Given the description of an element on the screen output the (x, y) to click on. 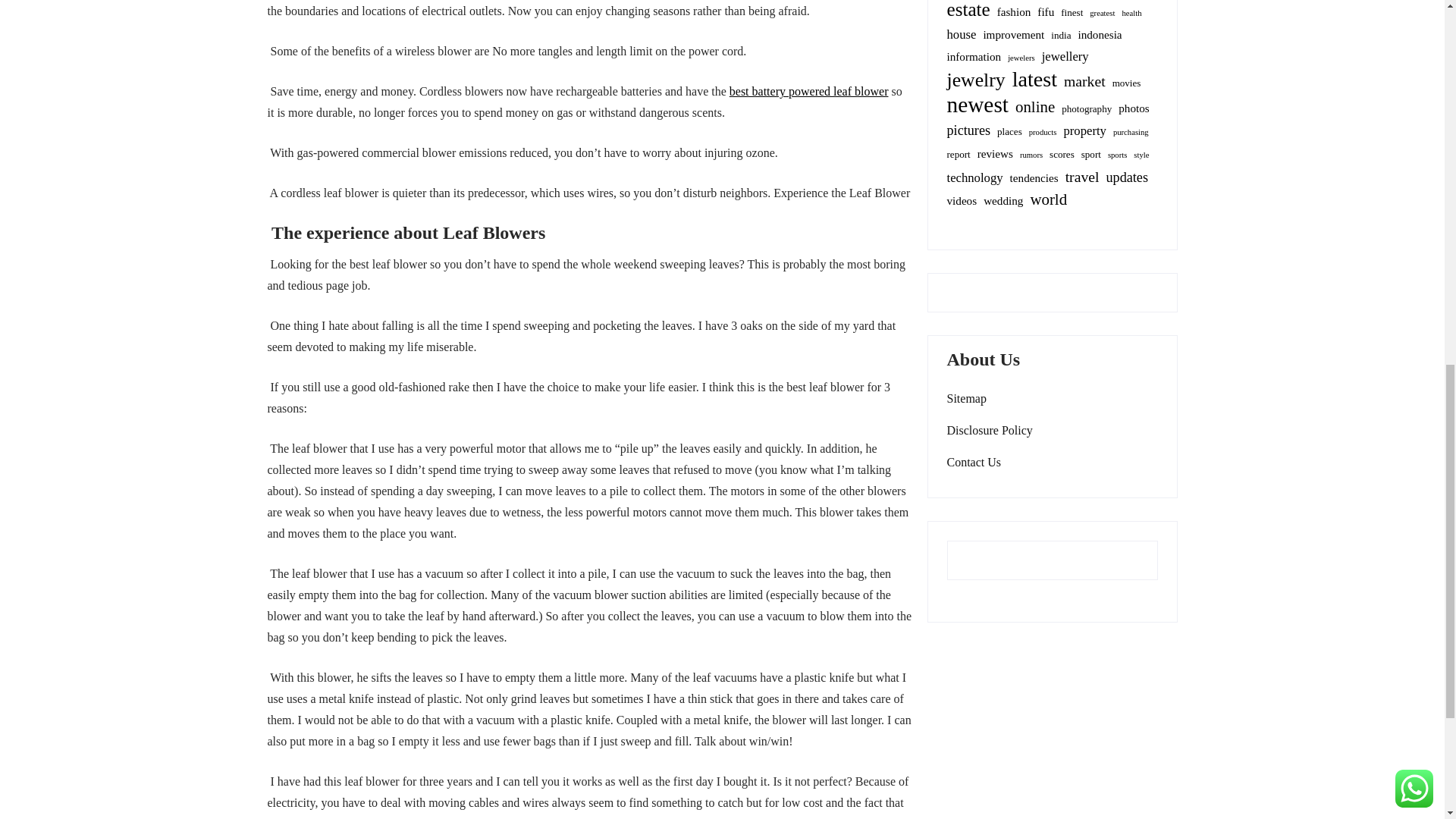
india (1060, 35)
jewellery (1065, 56)
health (1131, 13)
finest (1072, 12)
jewelers (1021, 57)
fashion (1013, 11)
best battery powered leaf blower (808, 91)
fifu (1045, 11)
market (1084, 80)
information (973, 56)
latest (1034, 79)
improvement (1012, 34)
house (960, 34)
greatest (1102, 13)
estate (968, 10)
